Given the description of an element on the screen output the (x, y) to click on. 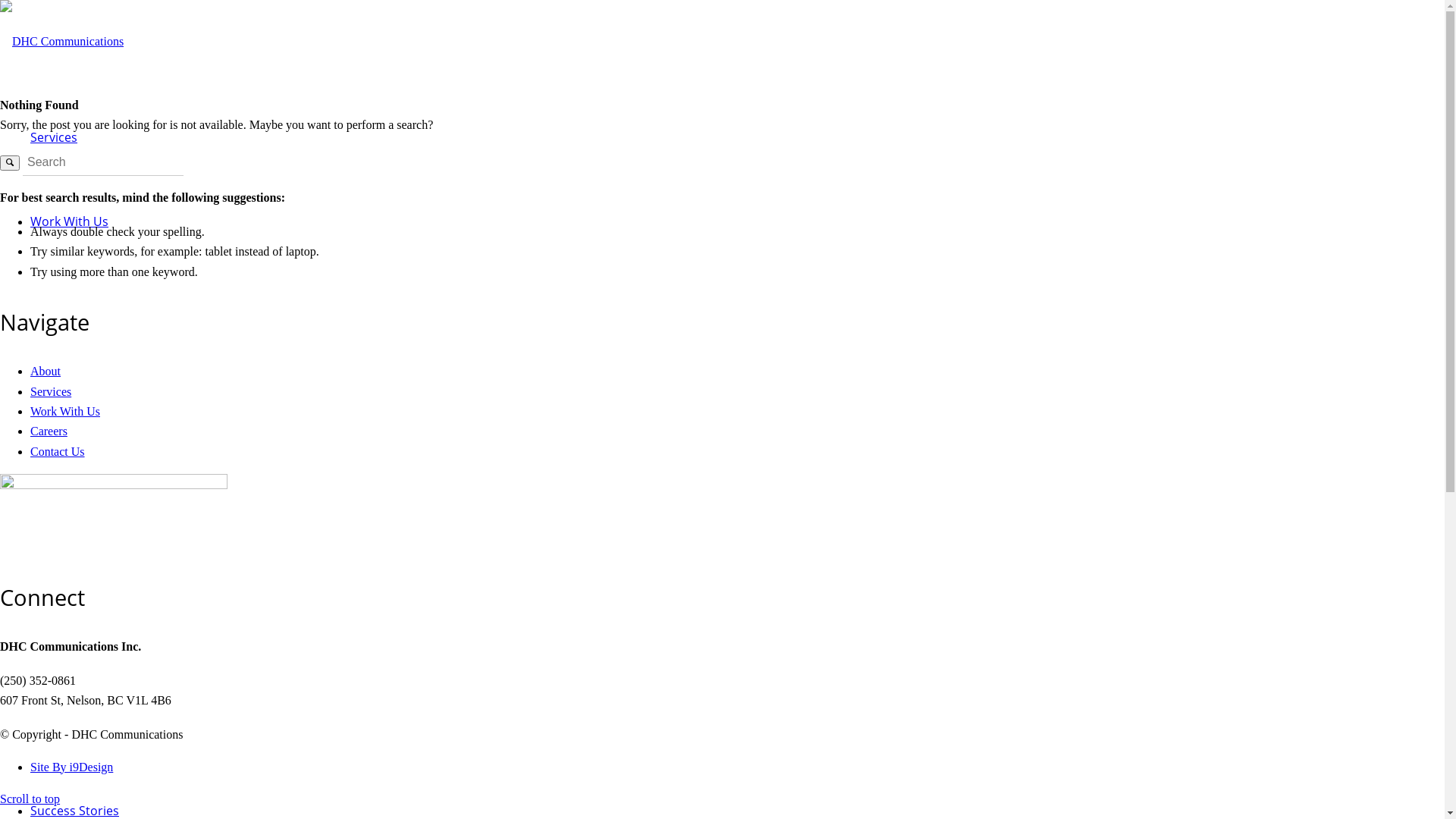
Site By i9Design Element type: text (71, 766)
About Element type: text (45, 370)
Careers Element type: text (48, 430)
Scroll to top Element type: text (29, 798)
Work With Us Element type: text (69, 221)
DHC-Logo Element type: hover (61, 41)
Success Stories Element type: text (74, 810)
Contact Us Element type: text (57, 451)
Work With Us Element type: text (65, 410)
Services Element type: text (53, 137)
Services Element type: text (50, 391)
